Given the description of an element on the screen output the (x, y) to click on. 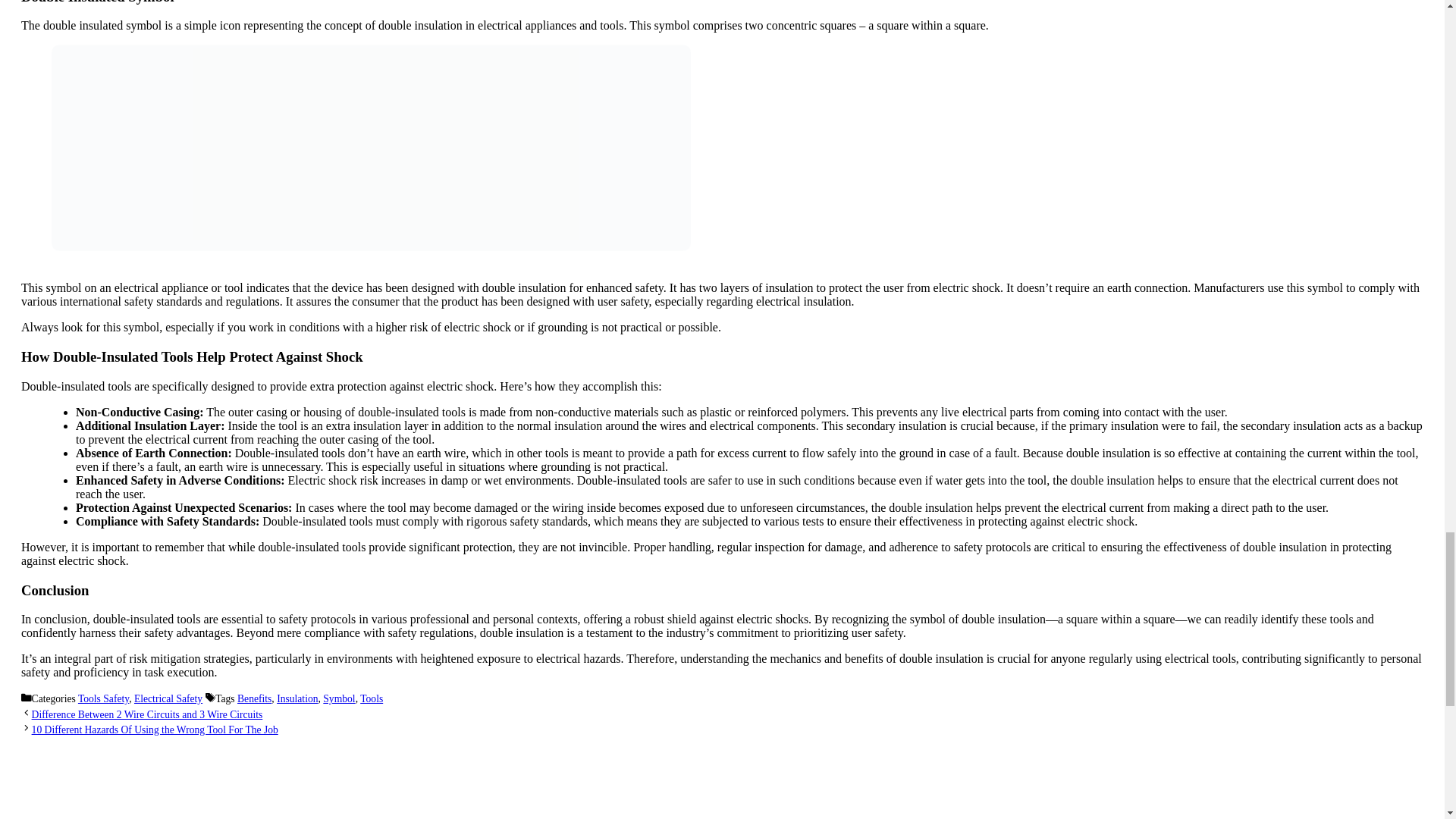
Symbol (339, 698)
Electrical Safety (167, 698)
Tools Safety (103, 698)
10 Different Hazards Of Using the Wrong Tool For The Job (155, 729)
Insulation (296, 698)
Tools (370, 698)
Difference Between 2 Wire Circuits and 3 Wire Circuits (147, 714)
Benefits (253, 698)
